Given the description of an element on the screen output the (x, y) to click on. 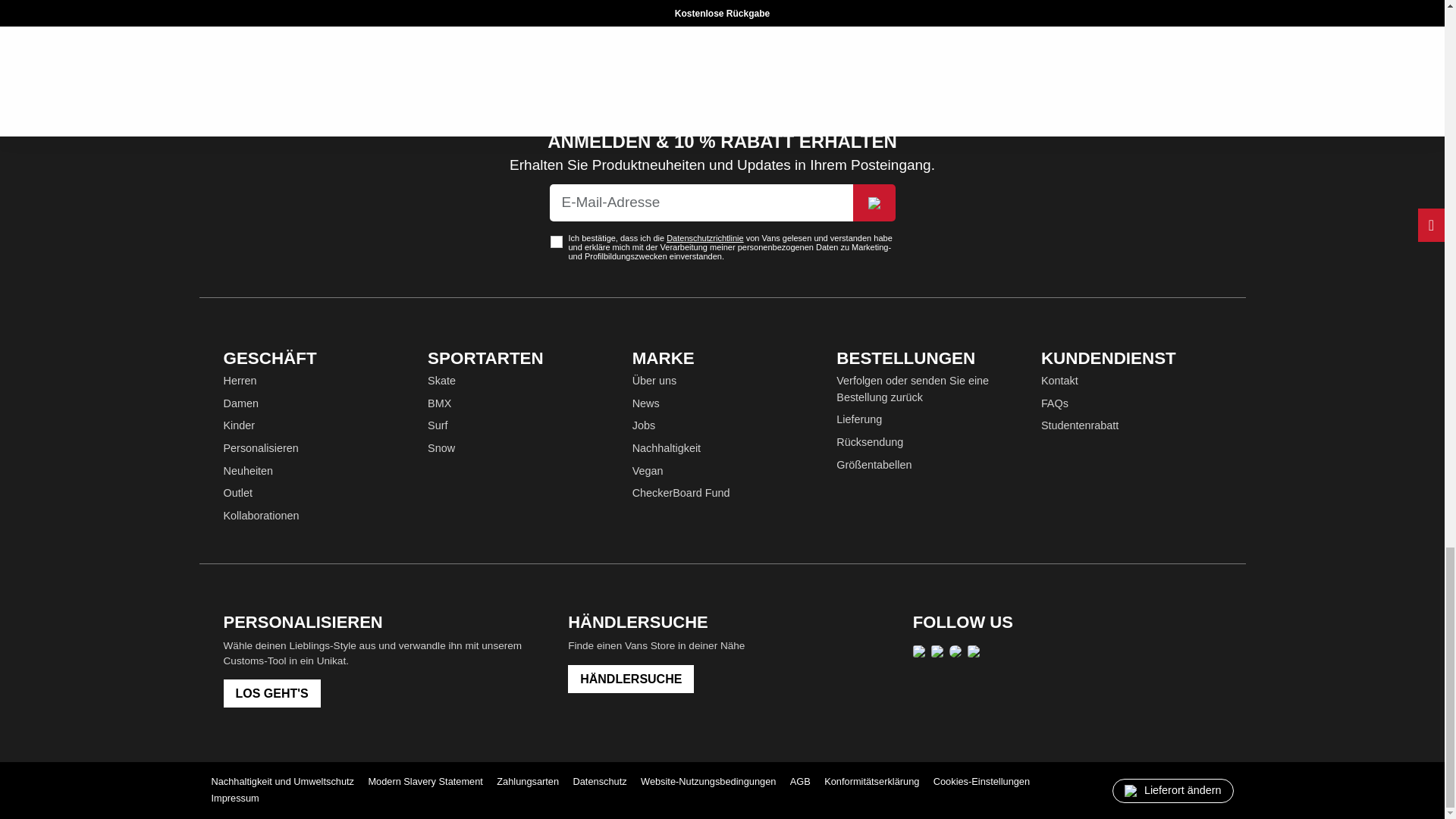
on (556, 241)
